Given the description of an element on the screen output the (x, y) to click on. 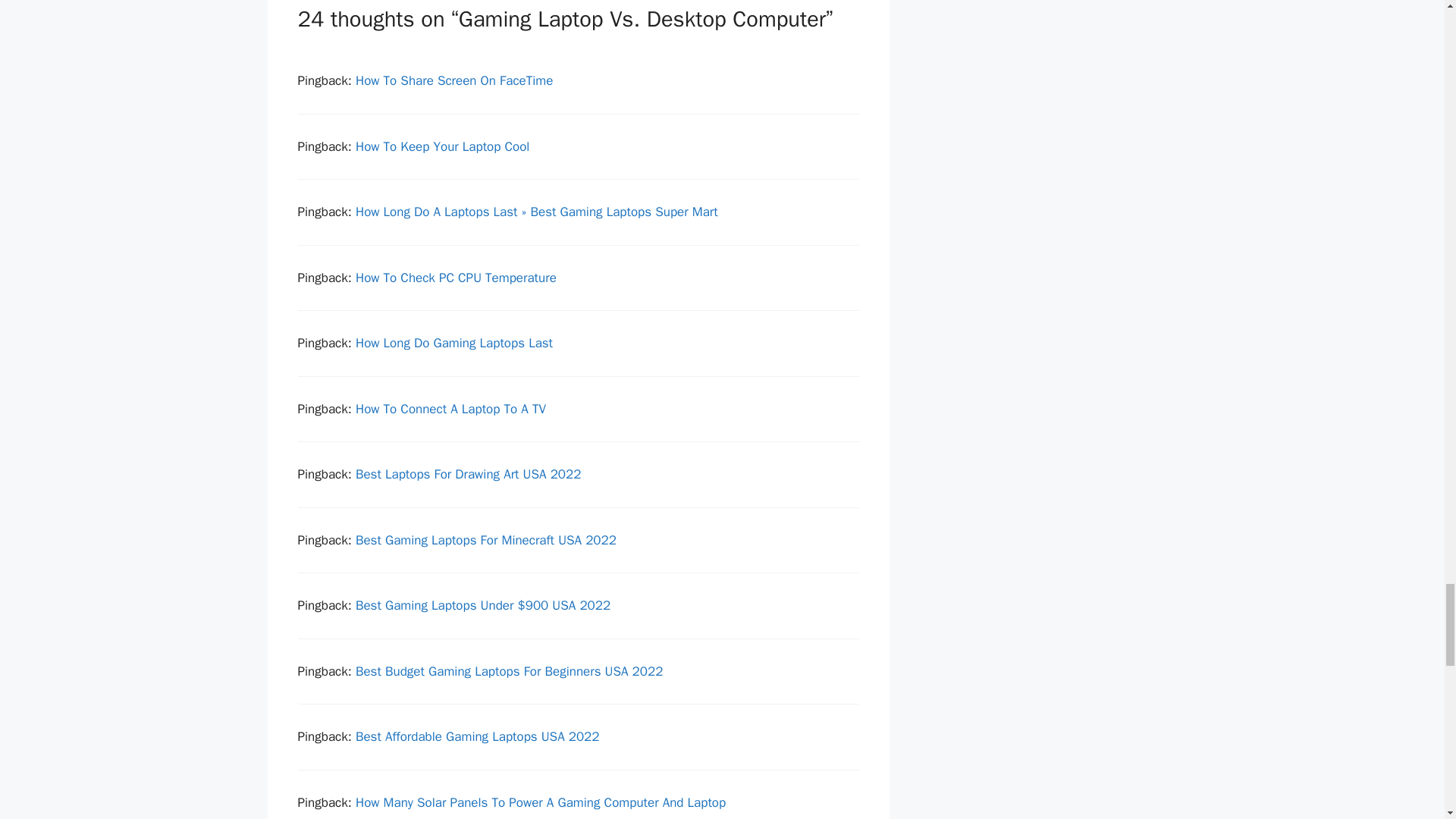
How To Keep Your Laptop Cool (442, 146)
How To Share Screen On FaceTime (454, 80)
Best Gaming Laptops For Minecraft USA 2022 (485, 539)
Best Laptops For Drawing Art USA 2022 (467, 474)
How To Check PC CPU Temperature (455, 277)
How Many Solar Panels To Power A Gaming Computer And Laptop (540, 802)
Best Budget Gaming Laptops For Beginners USA 2022 (508, 671)
Best Affordable Gaming Laptops USA 2022 (477, 736)
How Long Do Gaming Laptops Last (454, 342)
How To Connect A Laptop To A TV (450, 408)
